Given the description of an element on the screen output the (x, y) to click on. 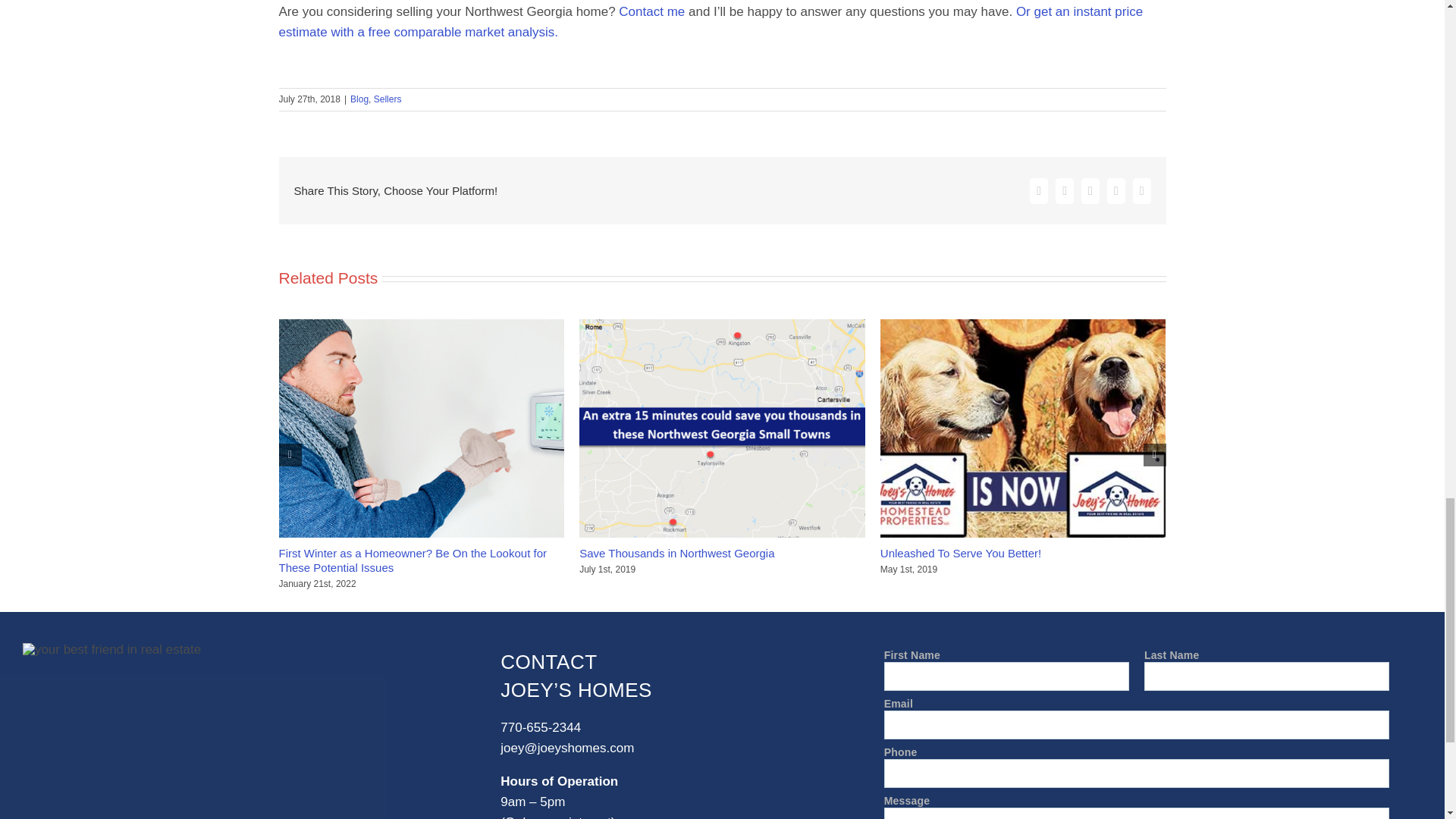
Contact me (651, 11)
Blog (359, 99)
your best friend in real estate (111, 649)
Save Thousands in Northwest Georgia (676, 553)
Unleashed To Serve You Better! (960, 553)
Sellers (387, 99)
